Given the description of an element on the screen output the (x, y) to click on. 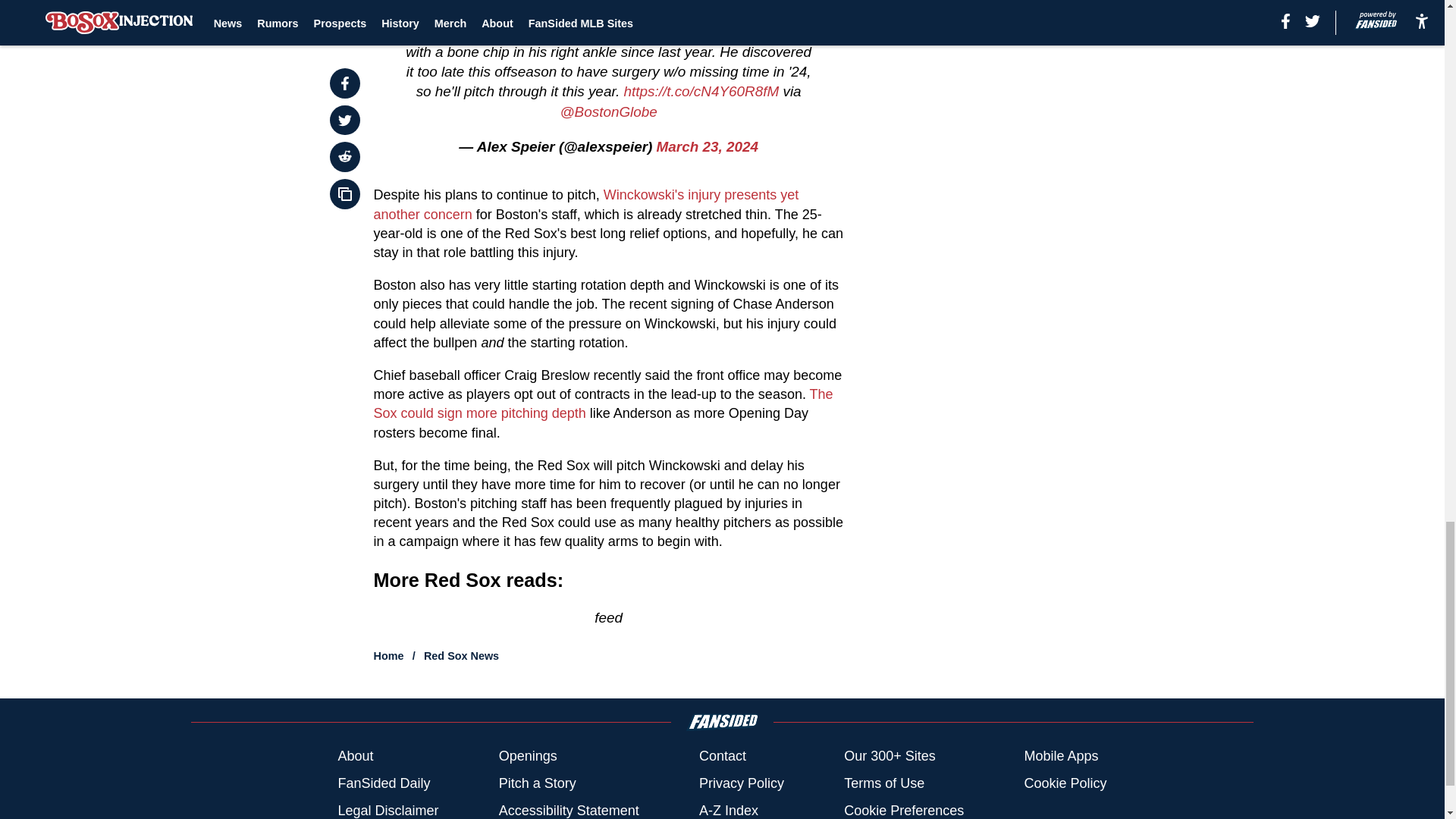
About (354, 755)
March 23, 2024 (707, 146)
Red Sox News (461, 655)
Home (389, 655)
The Sox could sign more pitching depth (603, 403)
Winckowski's injury presents yet another concern (586, 204)
